Given the description of an element on the screen output the (x, y) to click on. 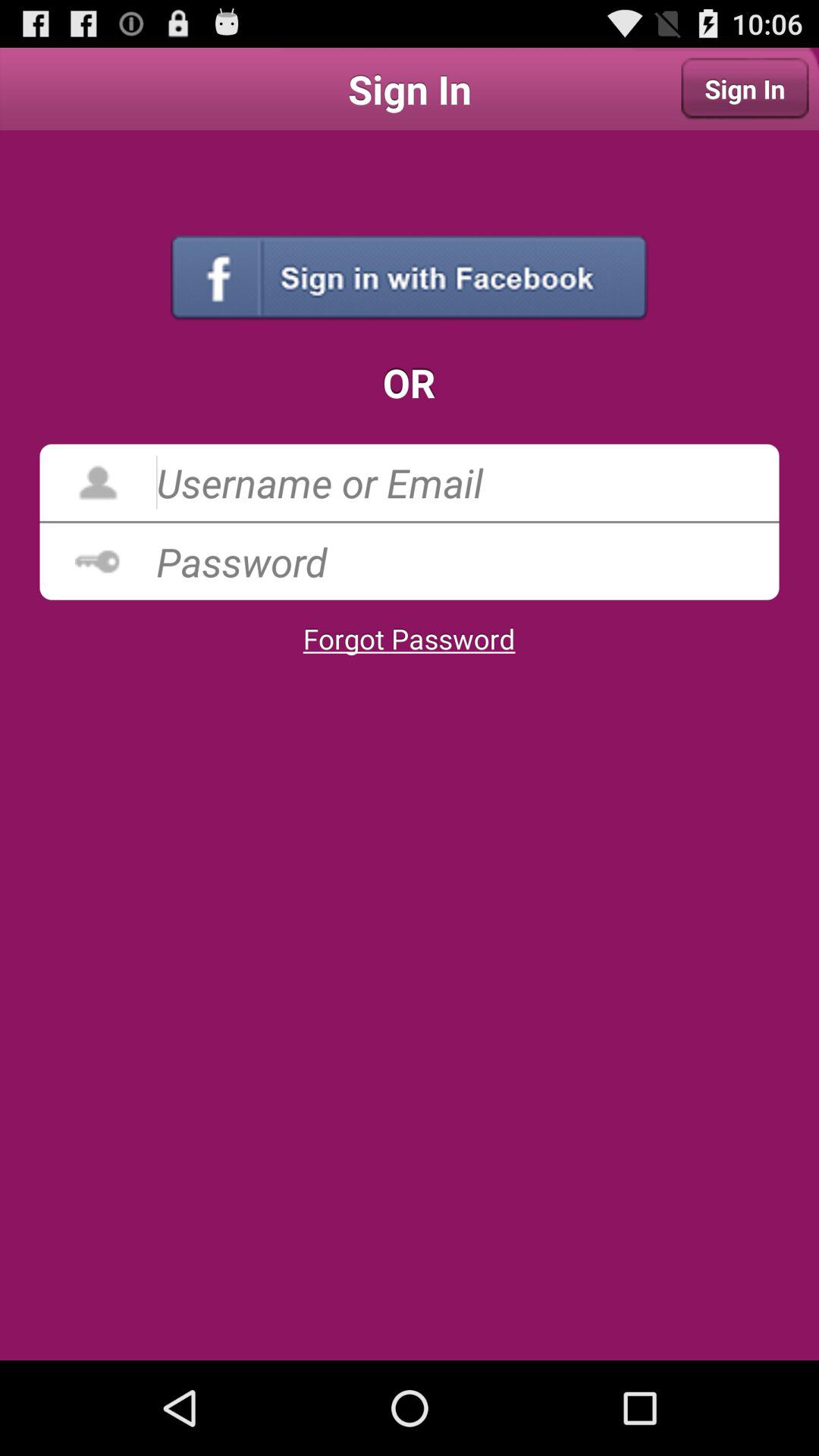
click forgot password (409, 638)
